Given the description of an element on the screen output the (x, y) to click on. 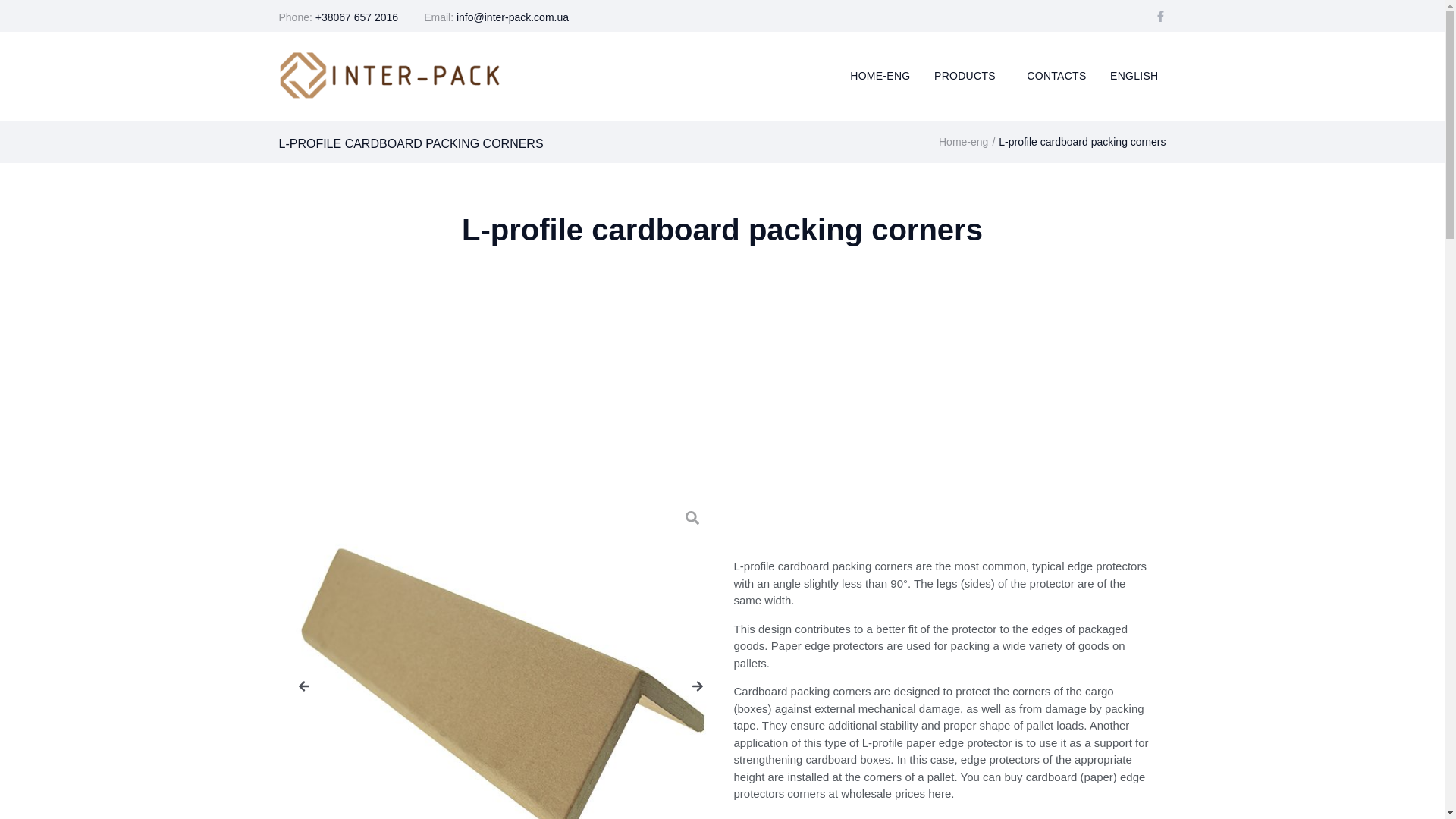
Home-eng (963, 141)
ENGLISH (1137, 76)
CONTACTS (1056, 76)
HOME-ENG (880, 76)
PRODUCTS (968, 76)
Home-eng (963, 141)
